Given the description of an element on the screen output the (x, y) to click on. 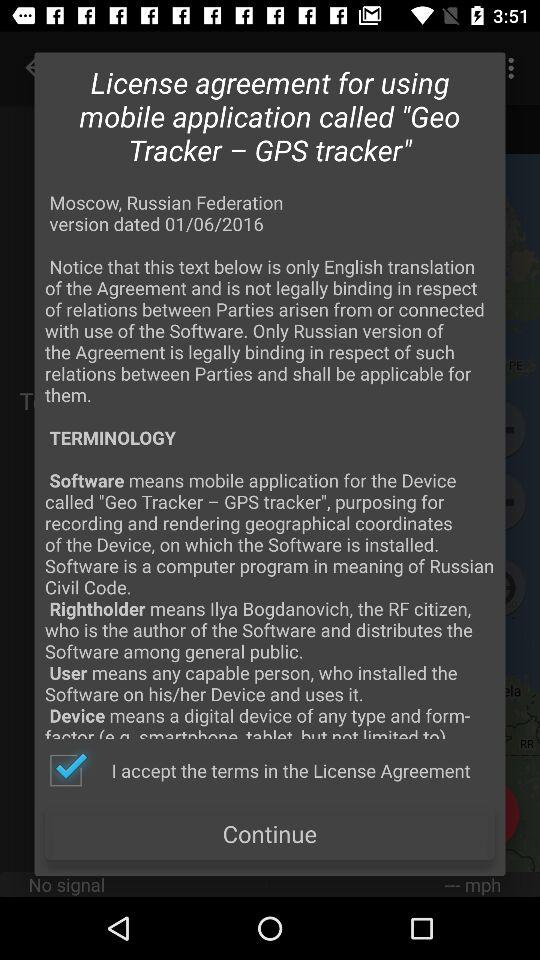
choose app at the center (270, 464)
